Given the description of an element on the screen output the (x, y) to click on. 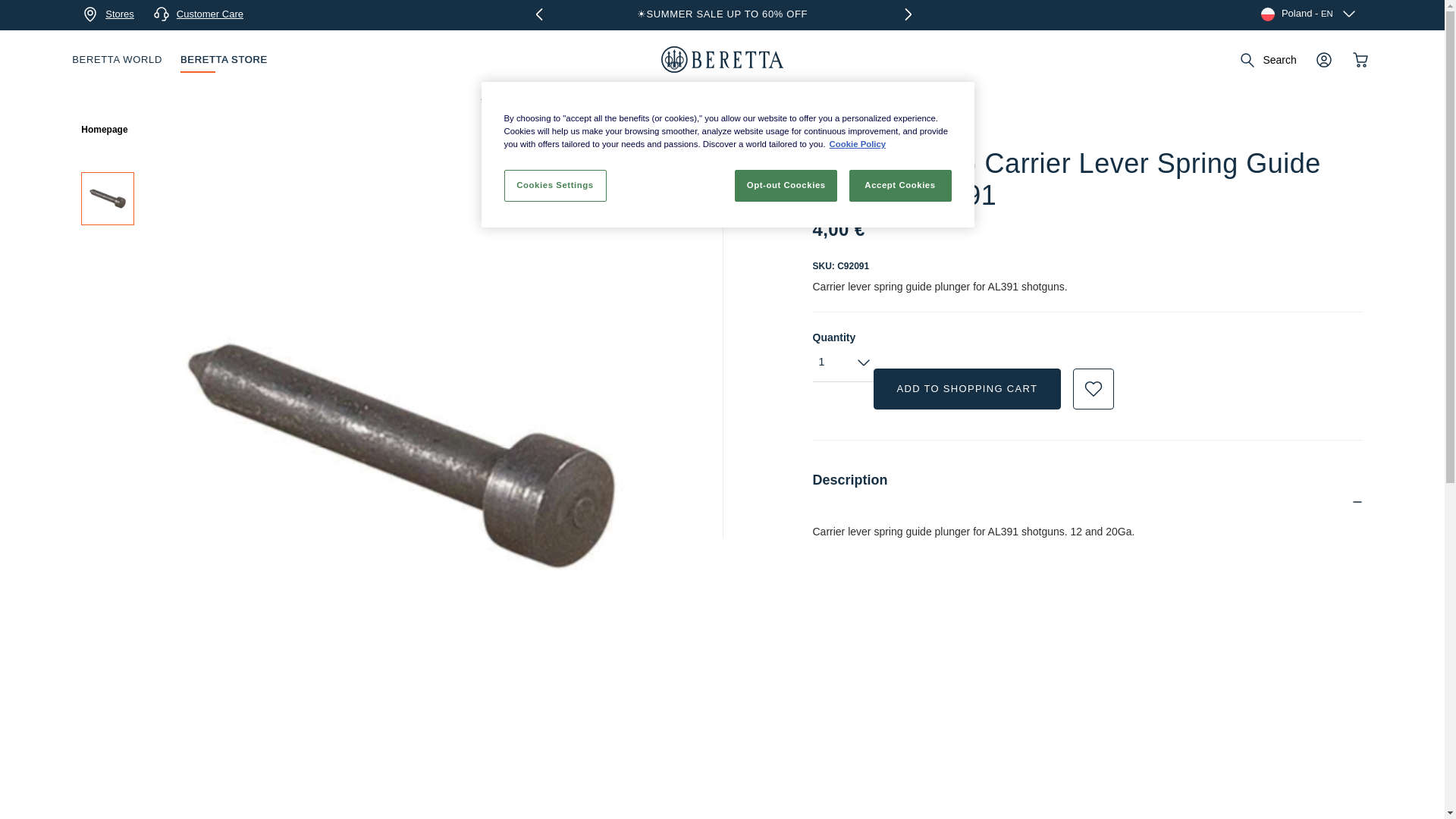
Customer Care (197, 13)
Stores (107, 13)
